Given the description of an element on the screen output the (x, y) to click on. 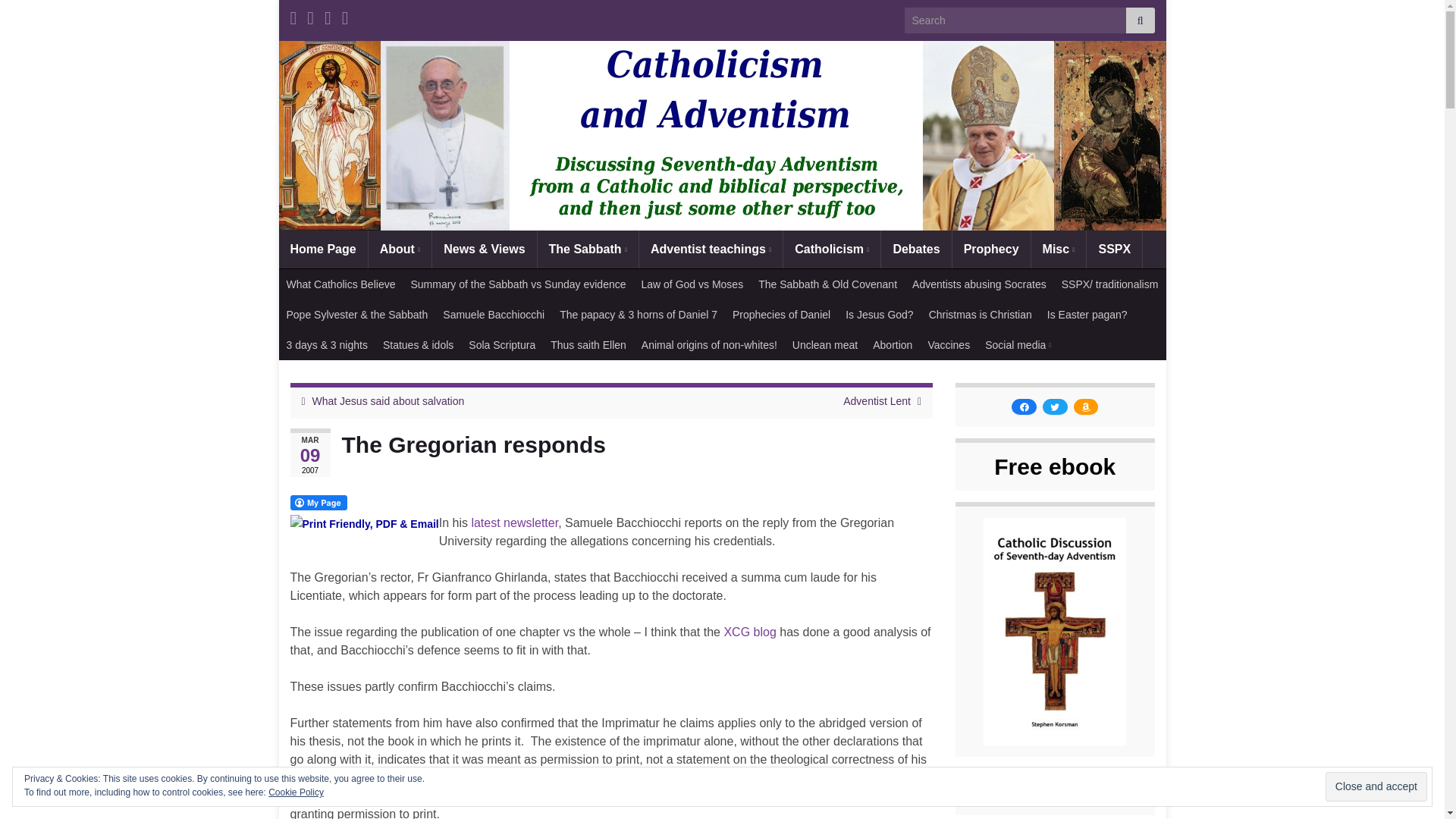
The Sabbath (588, 249)
Close and accept (1375, 786)
Home Page (323, 249)
Bacchiocchi's "Gregorian Controversy" (749, 631)
About (400, 249)
Catholicism (831, 249)
Adventist teachings (711, 249)
Samuele Bacchiocchi (513, 522)
